Given the description of an element on the screen output the (x, y) to click on. 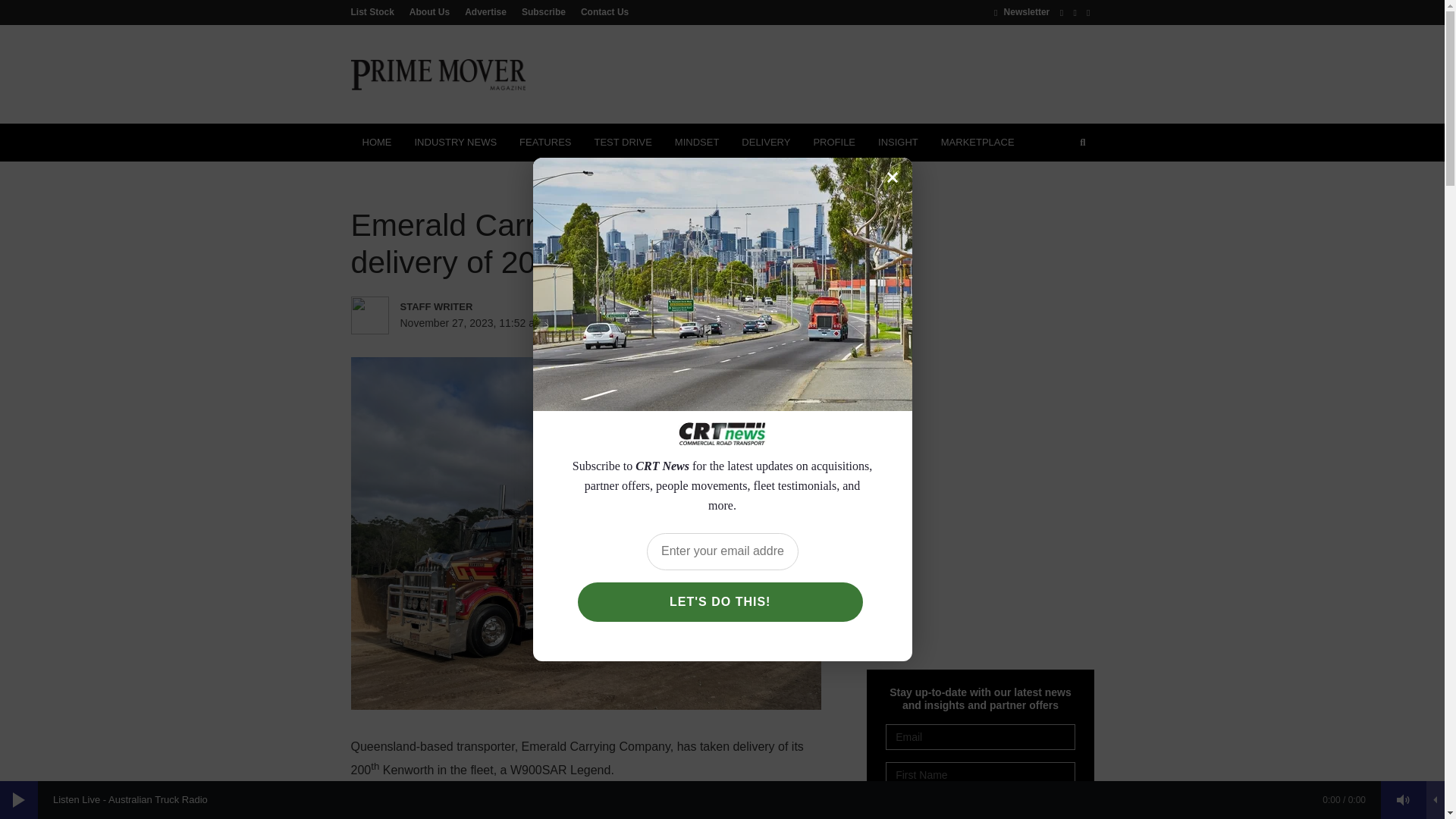
View all posts by Staff Writer (465, 306)
STAFF WRITER (465, 306)
List Stock (375, 11)
Subscribe (543, 11)
3rd party ad content (817, 74)
Newsletter (1021, 11)
HOME (376, 142)
INDUSTRY NEWS (455, 142)
About Us (429, 11)
Share on Print (697, 323)
Contact Us (600, 11)
MINDSET (696, 142)
INSIGHT (898, 142)
FEATURES (545, 142)
Share on Email (728, 323)
